Given the description of an element on the screen output the (x, y) to click on. 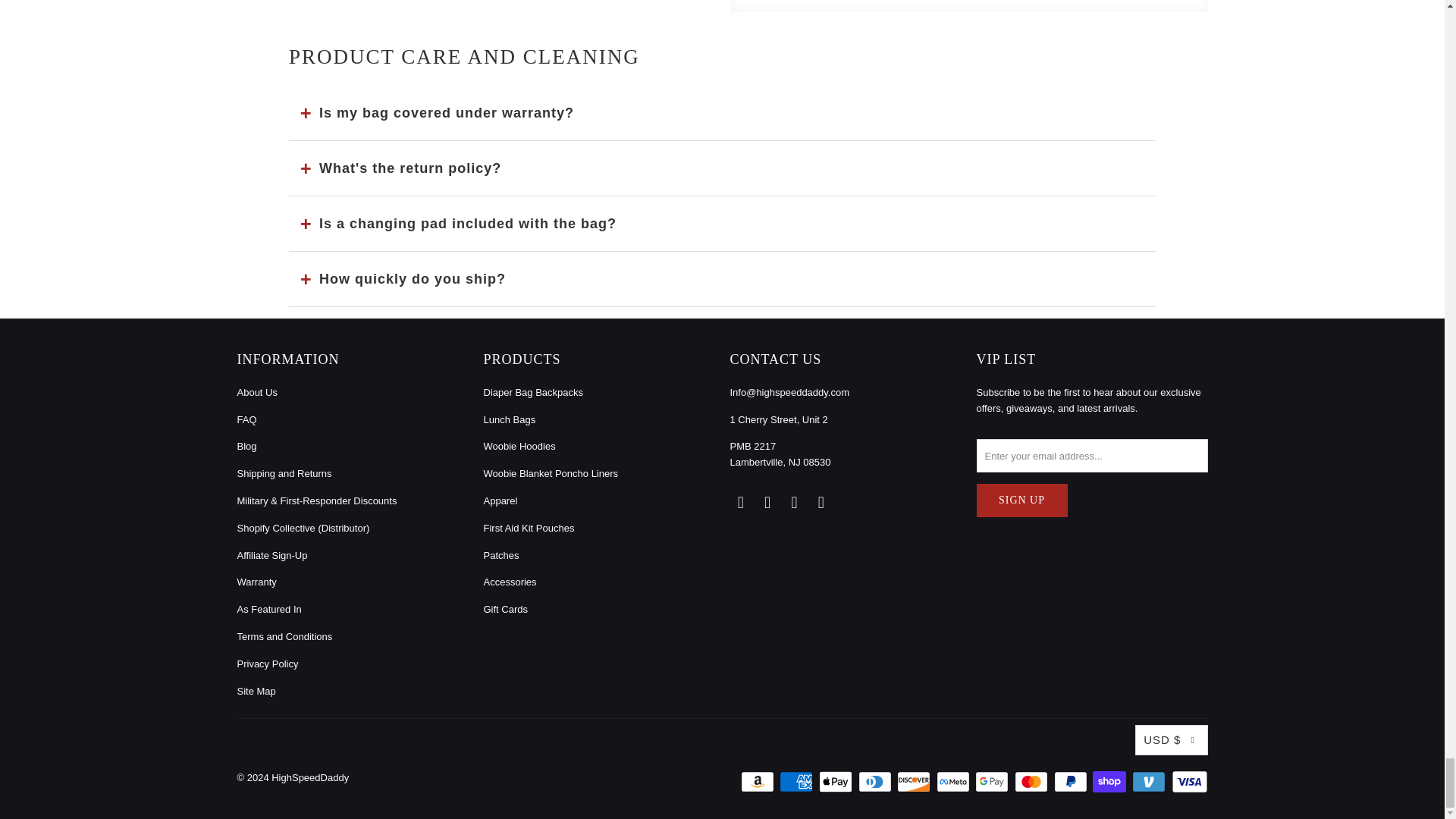
Google Pay (993, 781)
Apple Pay (837, 781)
Diners Club (877, 781)
American Express (796, 781)
Venmo (1150, 781)
Visa (1188, 781)
Discover (914, 781)
Meta Pay (954, 781)
Shop Pay (1111, 781)
Sign Up (1021, 500)
Mastercard (1032, 781)
Amazon (759, 781)
PayPal (1072, 781)
